Given the description of an element on the screen output the (x, y) to click on. 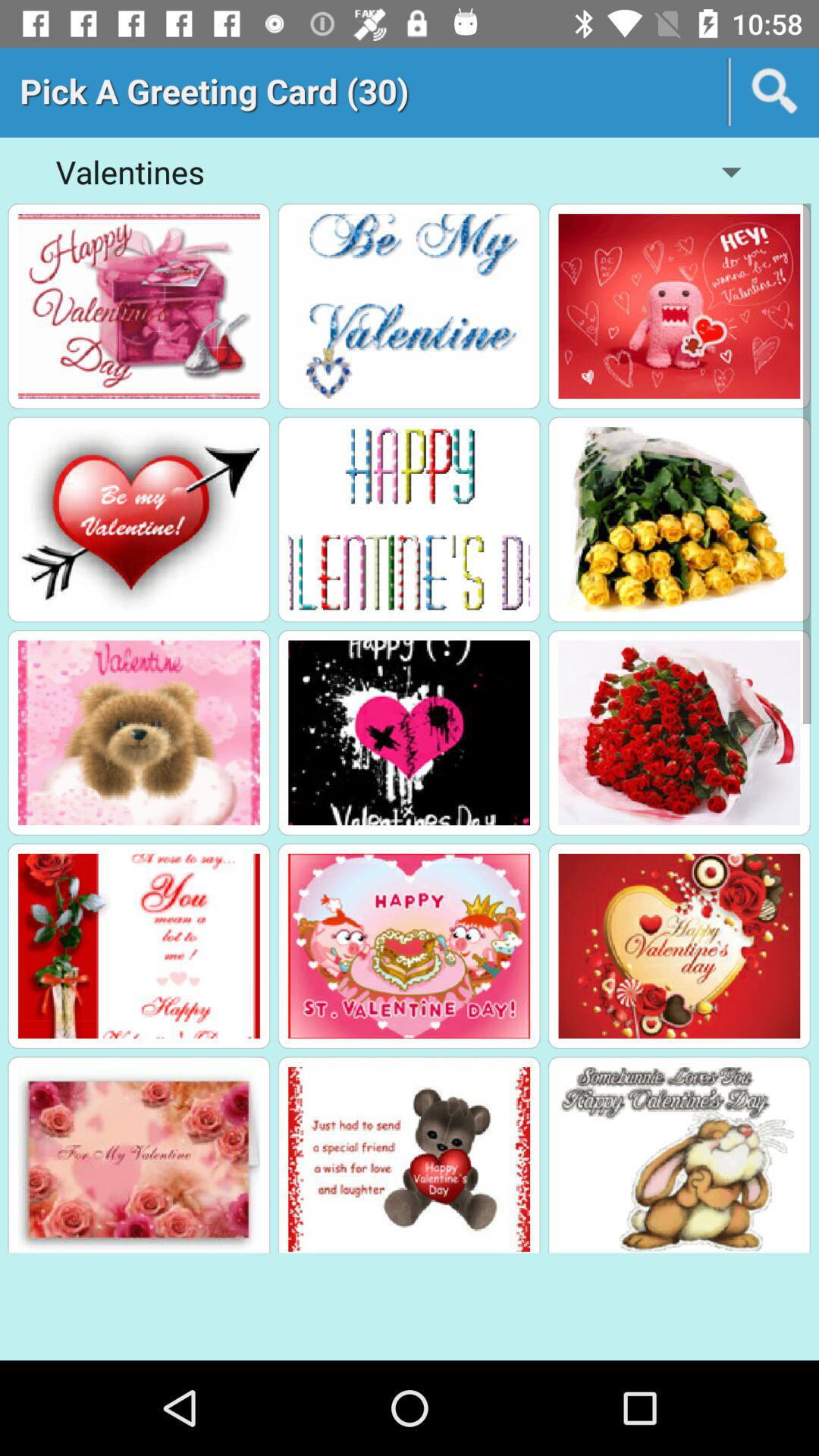
open item (138, 305)
